Given the description of an element on the screen output the (x, y) to click on. 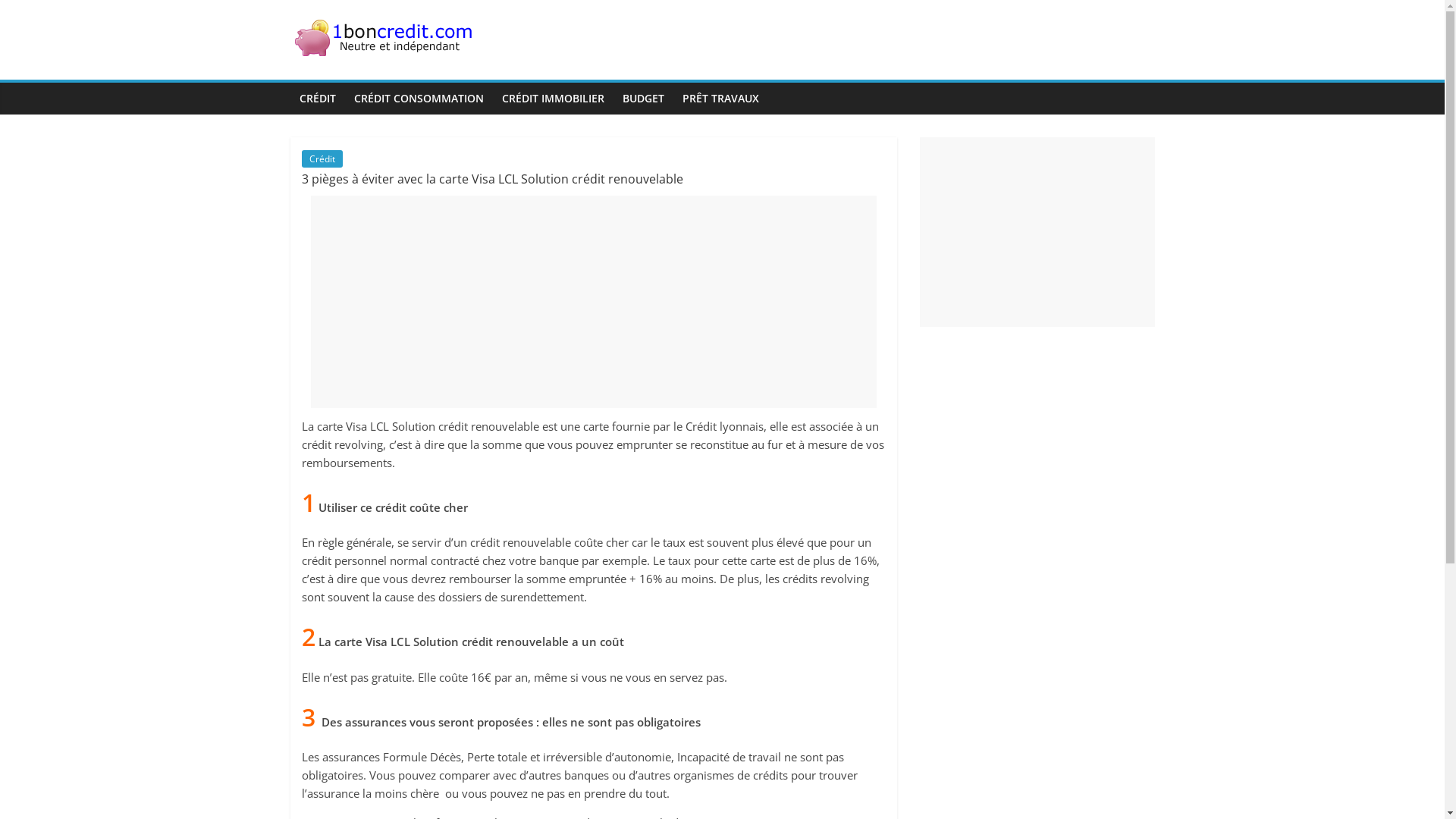
Advertisement Element type: hover (593, 301)
BUDGET Element type: text (642, 98)
Advertisement Element type: hover (1036, 231)
